Given the description of an element on the screen output the (x, y) to click on. 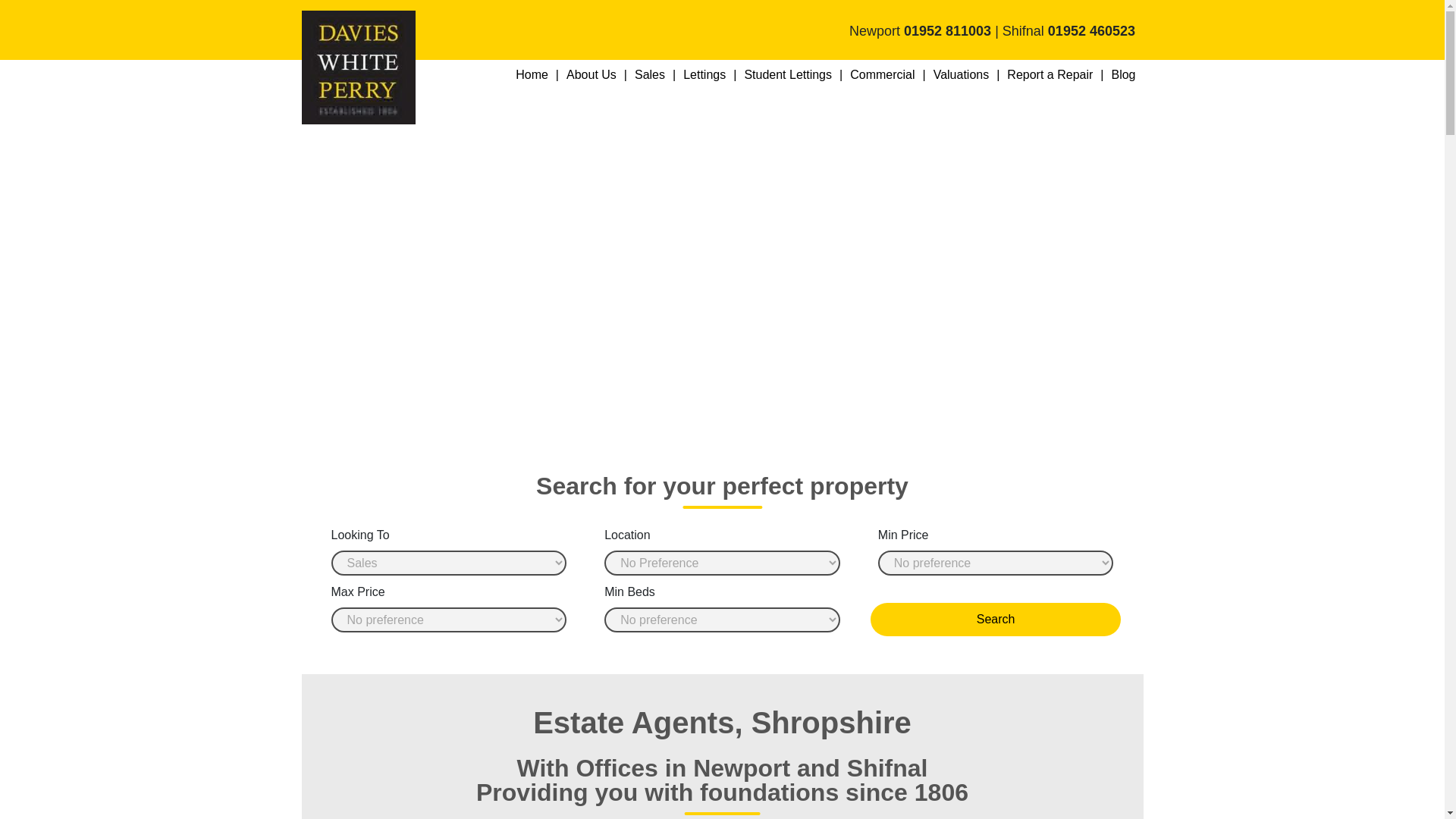
Sales (651, 75)
Home (533, 75)
Search (995, 619)
Valuations (963, 75)
Blog (1122, 75)
Lettings (705, 75)
Sales (651, 75)
Student Lettings (789, 75)
Valuations (963, 75)
About Us (593, 75)
